Given the description of an element on the screen output the (x, y) to click on. 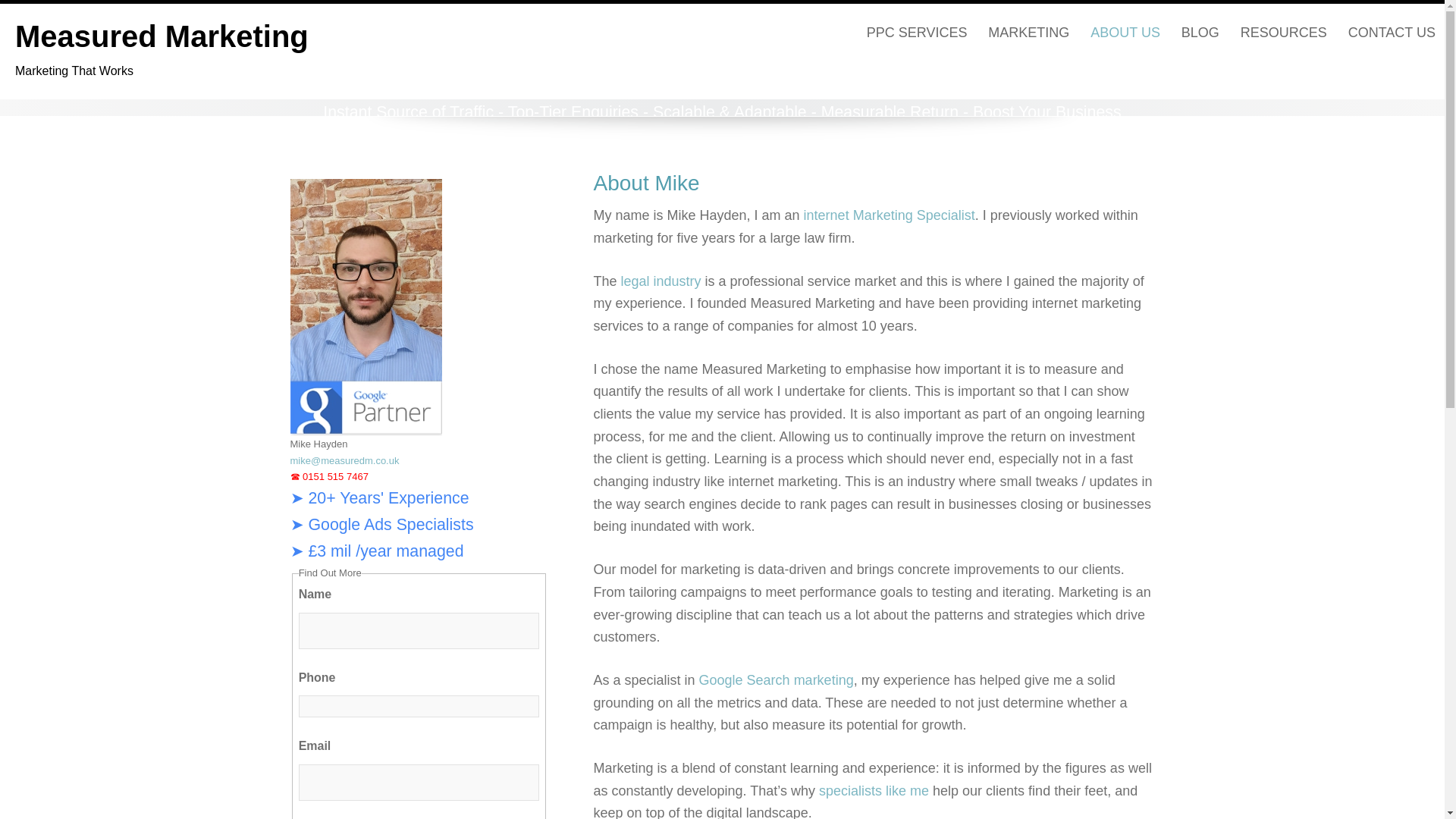
PPC SERVICES (916, 32)
ABOUT US (1125, 32)
MARKETING (161, 36)
BLOG (1028, 32)
